Given the description of an element on the screen output the (x, y) to click on. 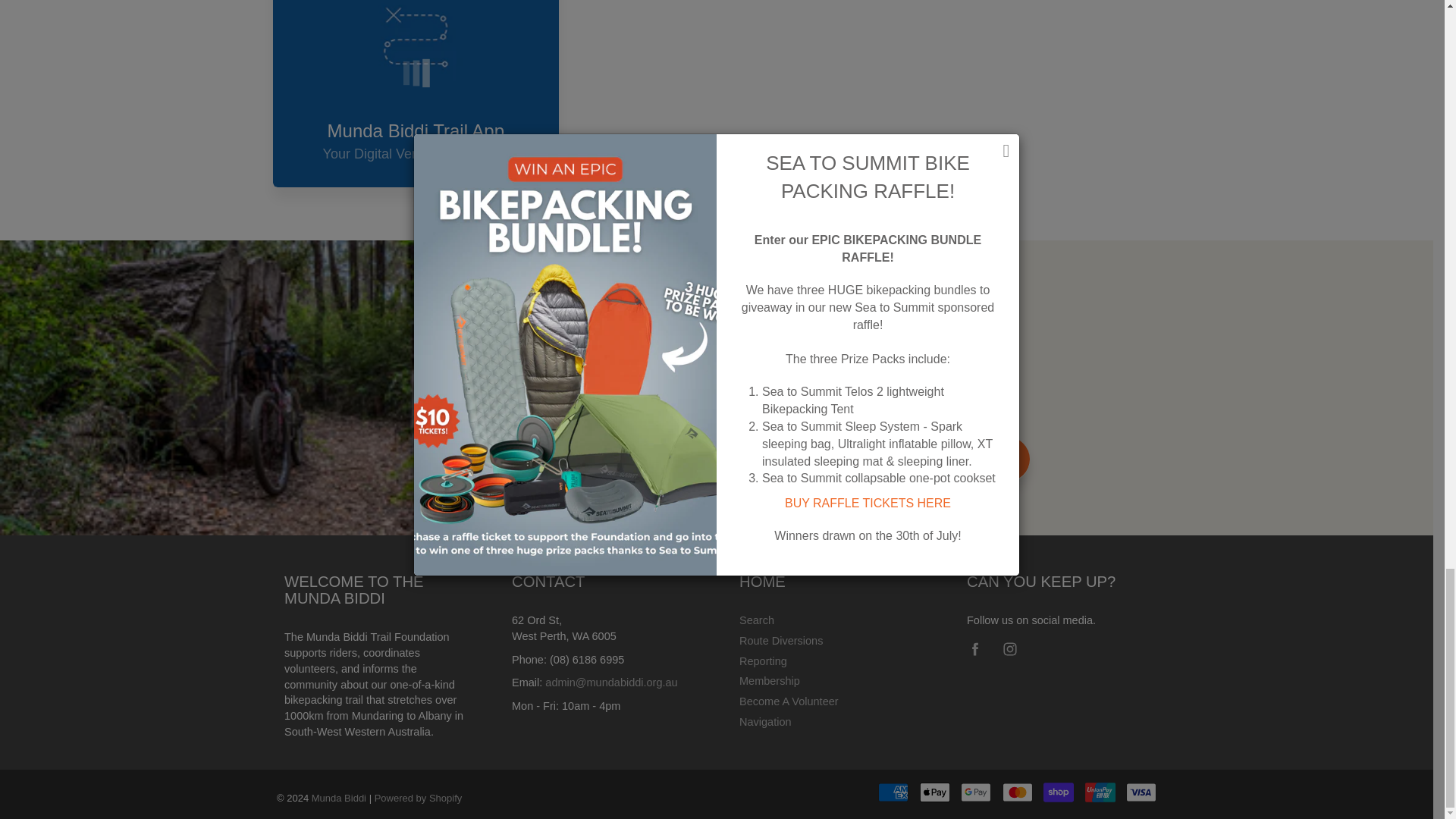
Facebook (974, 649)
American Express (892, 792)
Shop Pay (1058, 792)
Visa (1140, 792)
Mastercard (1017, 792)
Instagram (1009, 649)
Google Pay (975, 792)
Munda Biddi Trail App (416, 93)
Apple Pay (935, 792)
Union Pay (1099, 792)
